Given the description of an element on the screen output the (x, y) to click on. 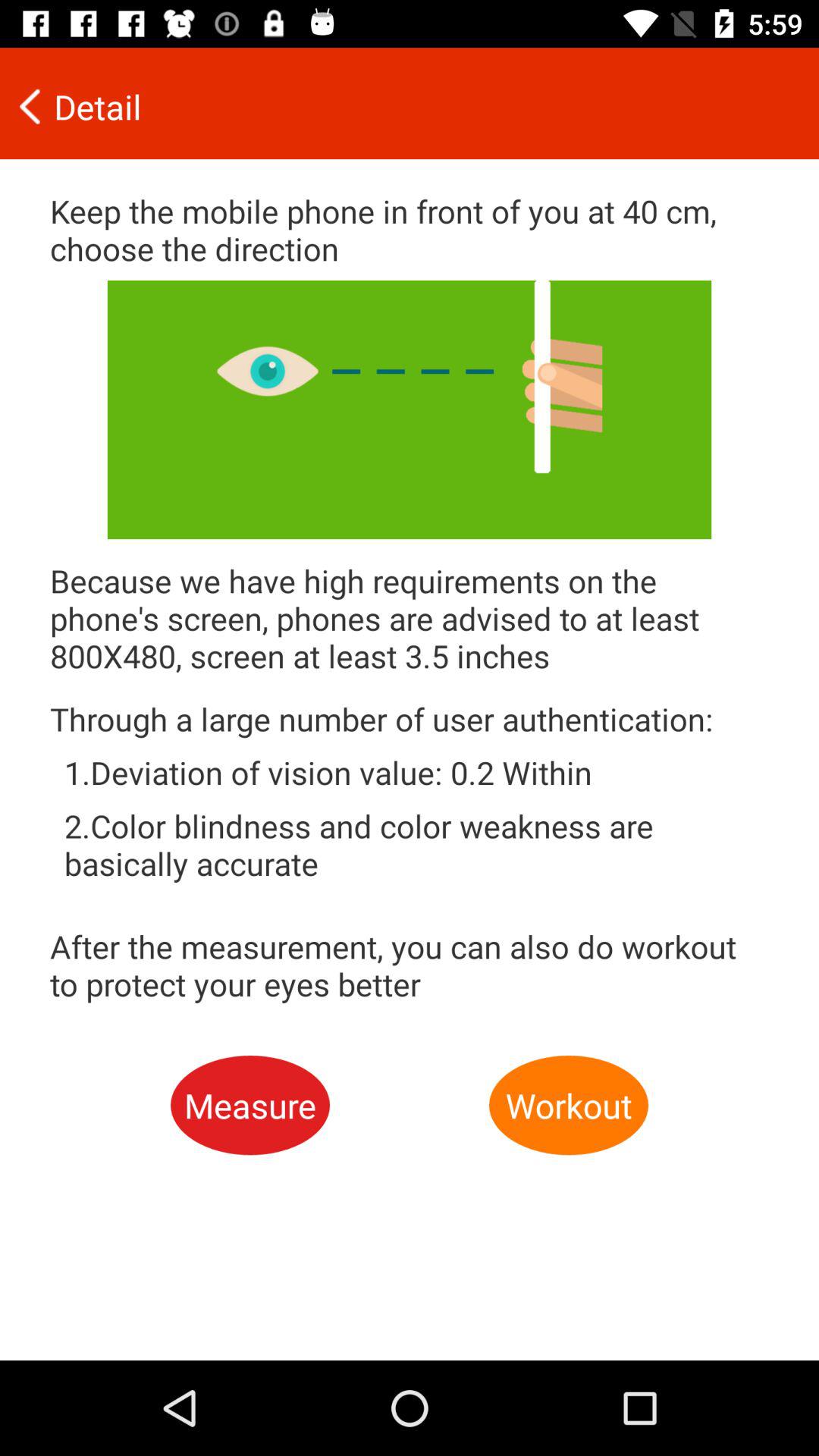
click the icon next to workout item (249, 1105)
